Given the description of an element on the screen output the (x, y) to click on. 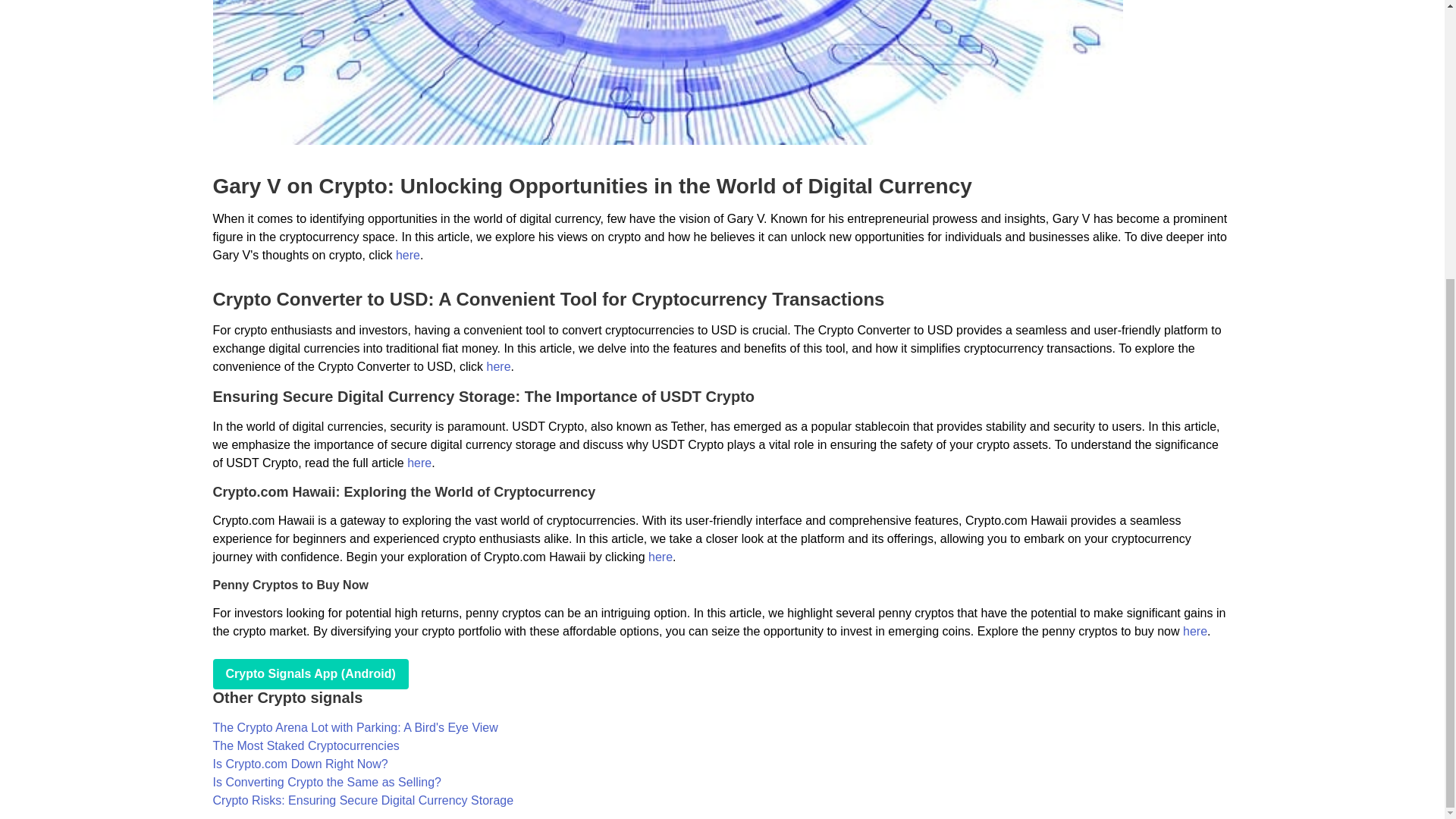
Is Crypto.com Down Right Now? (299, 763)
The Crypto Arena Lot with Parking: A Bird's Eye View (354, 727)
The Most Staked Cryptocurrencies (305, 745)
here (418, 462)
here (1194, 631)
Is Crypto.com Down Right Now? (299, 763)
play (309, 674)
here (659, 556)
Is Converting Crypto the Same as Selling? (326, 781)
The Crypto Arena Lot with Parking: A Bird (354, 727)
